Given the description of an element on the screen output the (x, y) to click on. 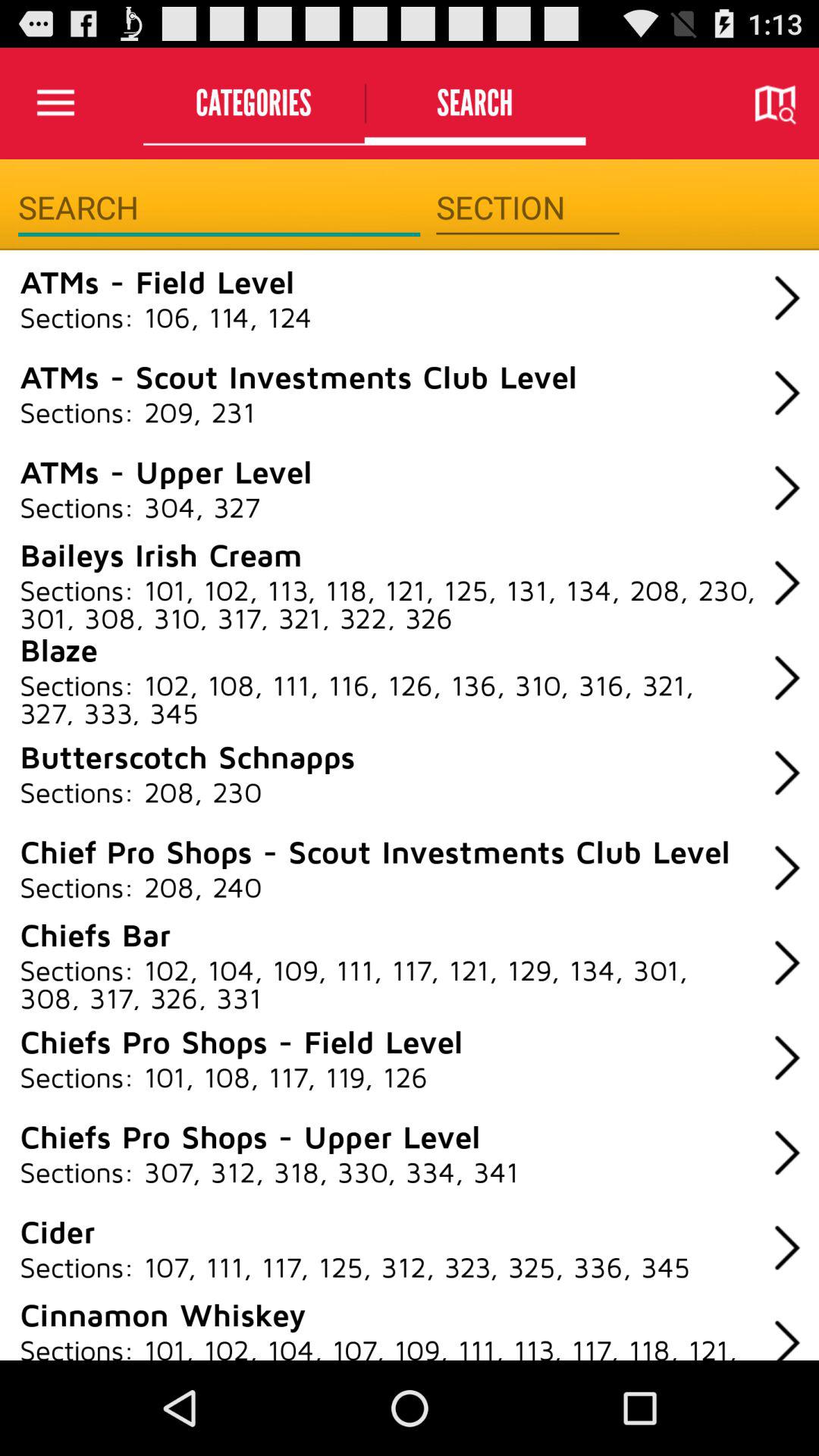
search for the club sections (219, 207)
